Given the description of an element on the screen output the (x, y) to click on. 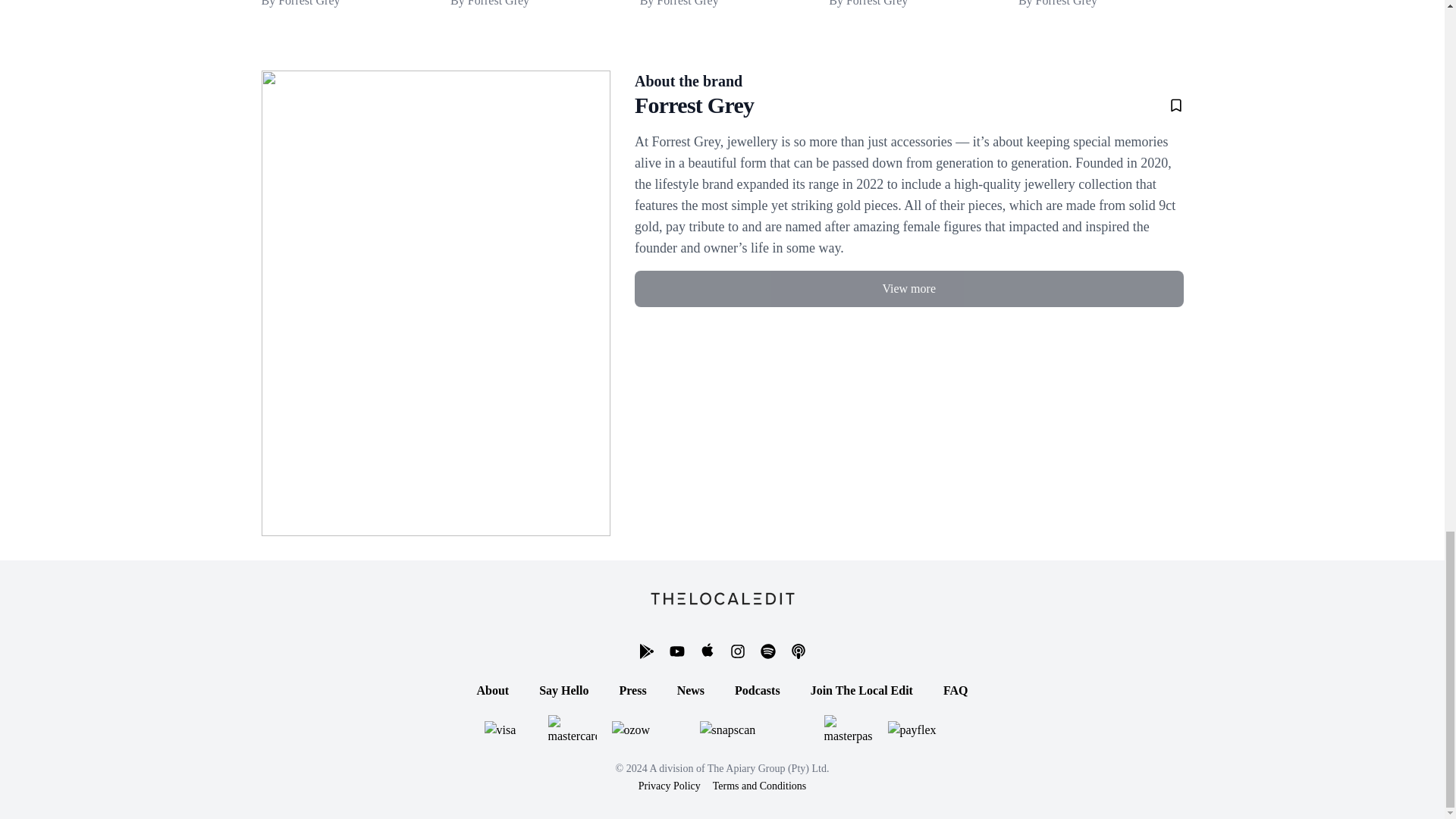
View more (492, 4)
